Given the description of an element on the screen output the (x, y) to click on. 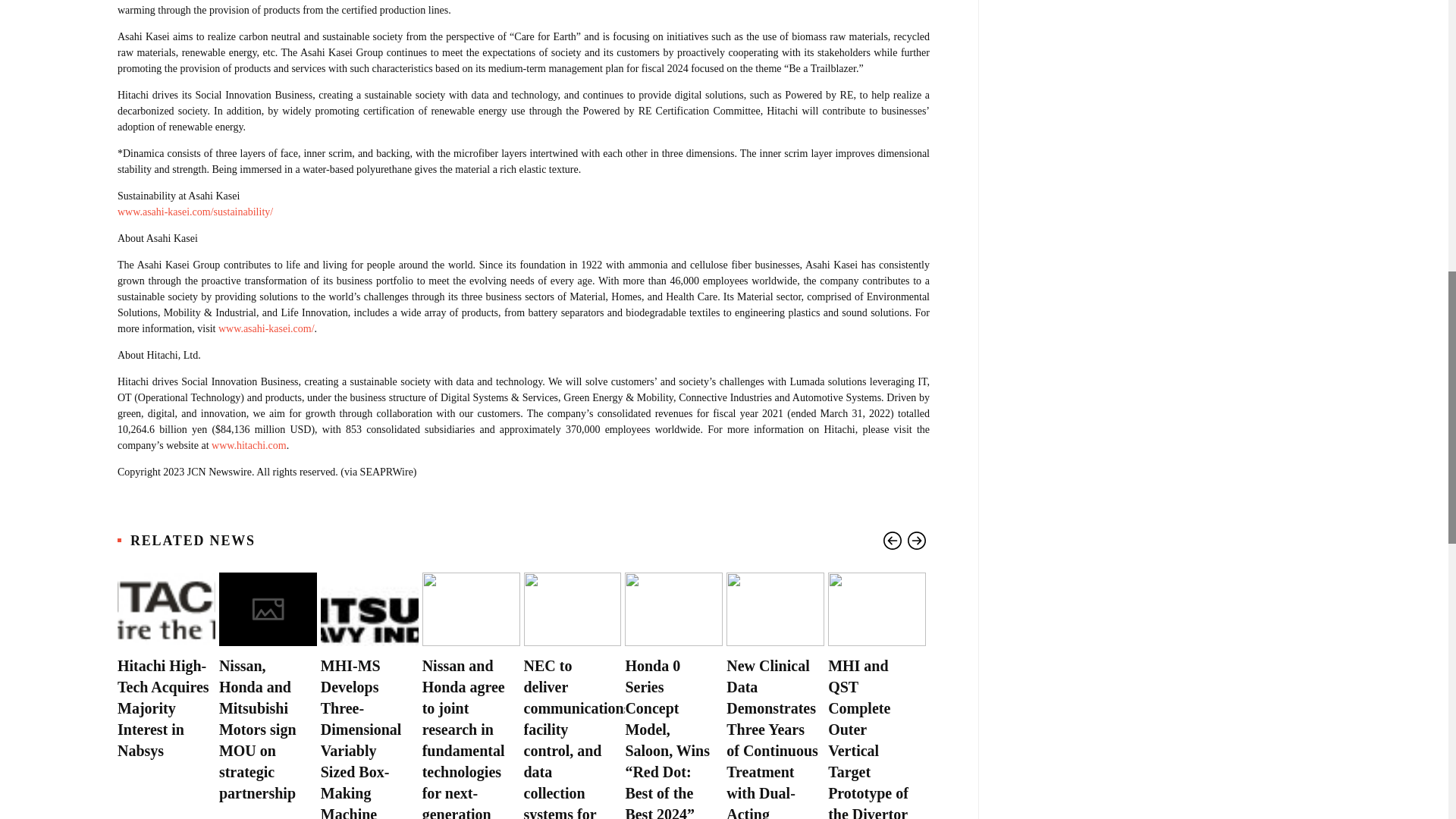
www.hitachi.com (248, 445)
Hitachi High-Tech Acquires Majority Interest in Nabsys (163, 708)
